Given the description of an element on the screen output the (x, y) to click on. 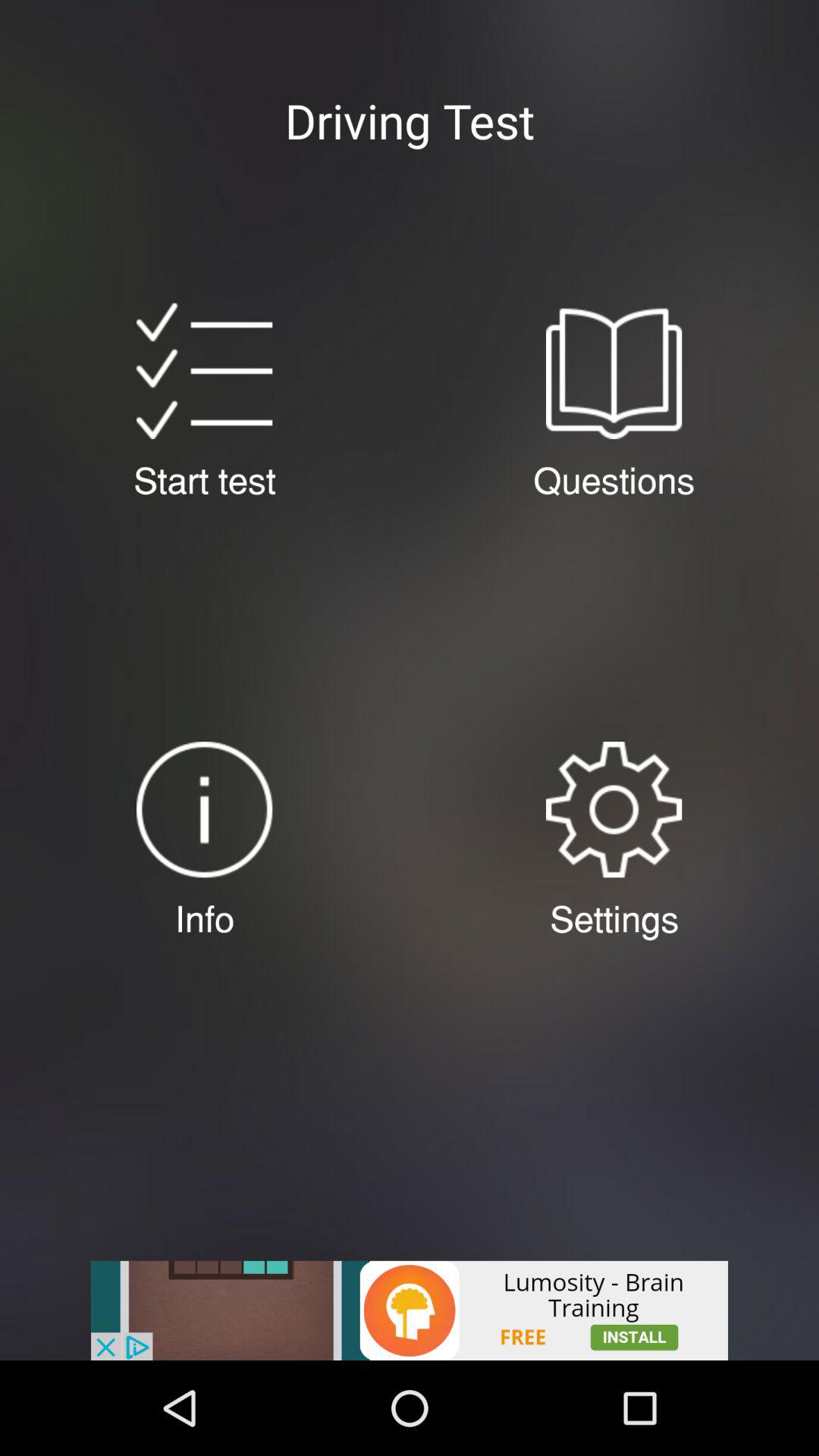
opens driving test questions (613, 371)
